Given the description of an element on the screen output the (x, y) to click on. 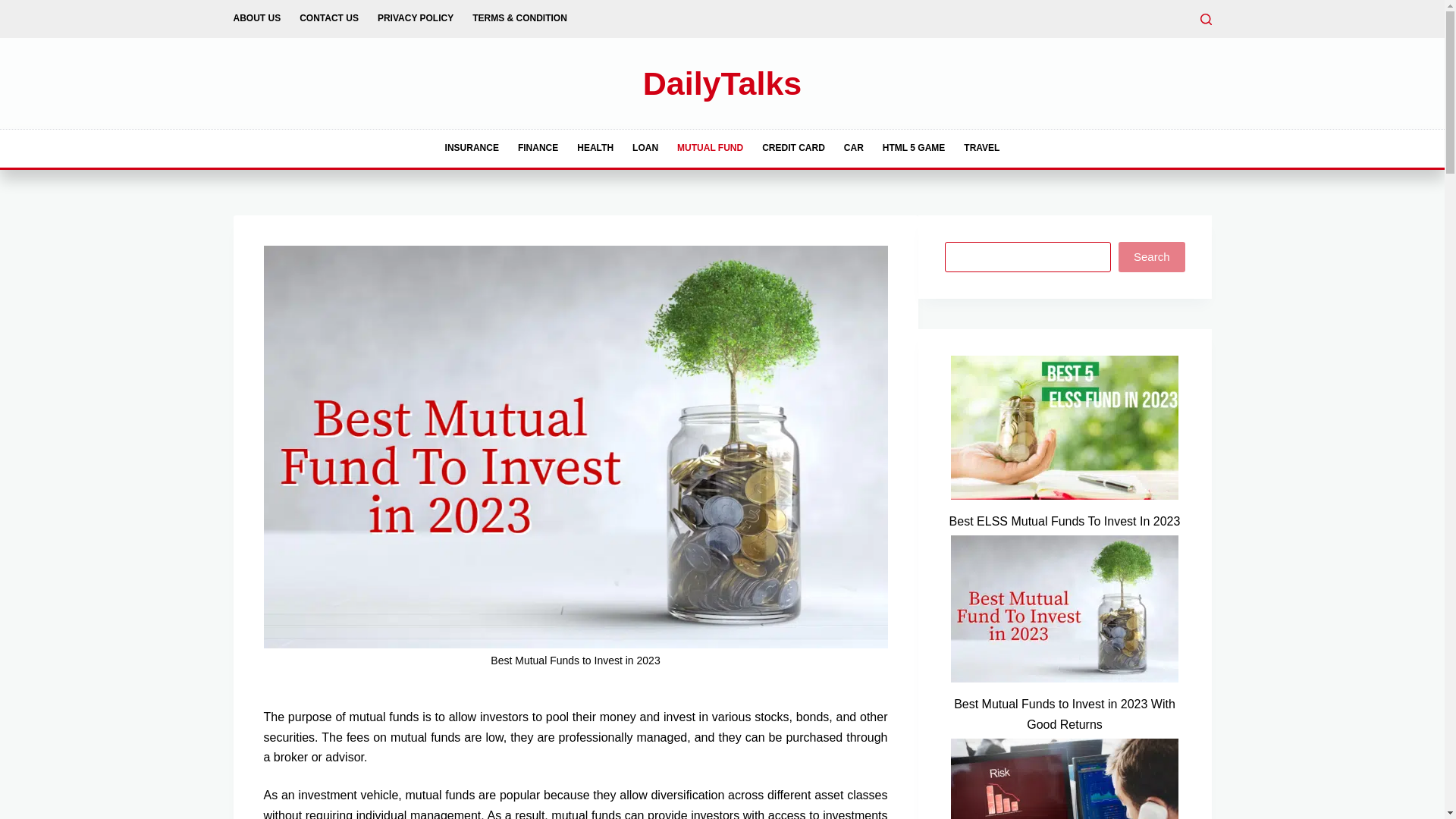
Skip to content (15, 7)
CONTACT US (328, 18)
DailyTalks (722, 83)
Best ELSS Mutual Funds To Invest In 2023 (1064, 521)
LOAN (645, 148)
CREDIT CARD (793, 148)
CAR (853, 148)
FINANCE (537, 148)
PRIVACY POLICY (415, 18)
Best Mutual Funds to Invest in 2023 With Good Returns (1064, 714)
INSURANCE (471, 148)
TRAVEL (982, 148)
MUTUAL FUND (710, 148)
Search (1151, 256)
HTML 5 GAME (912, 148)
